Given the description of an element on the screen output the (x, y) to click on. 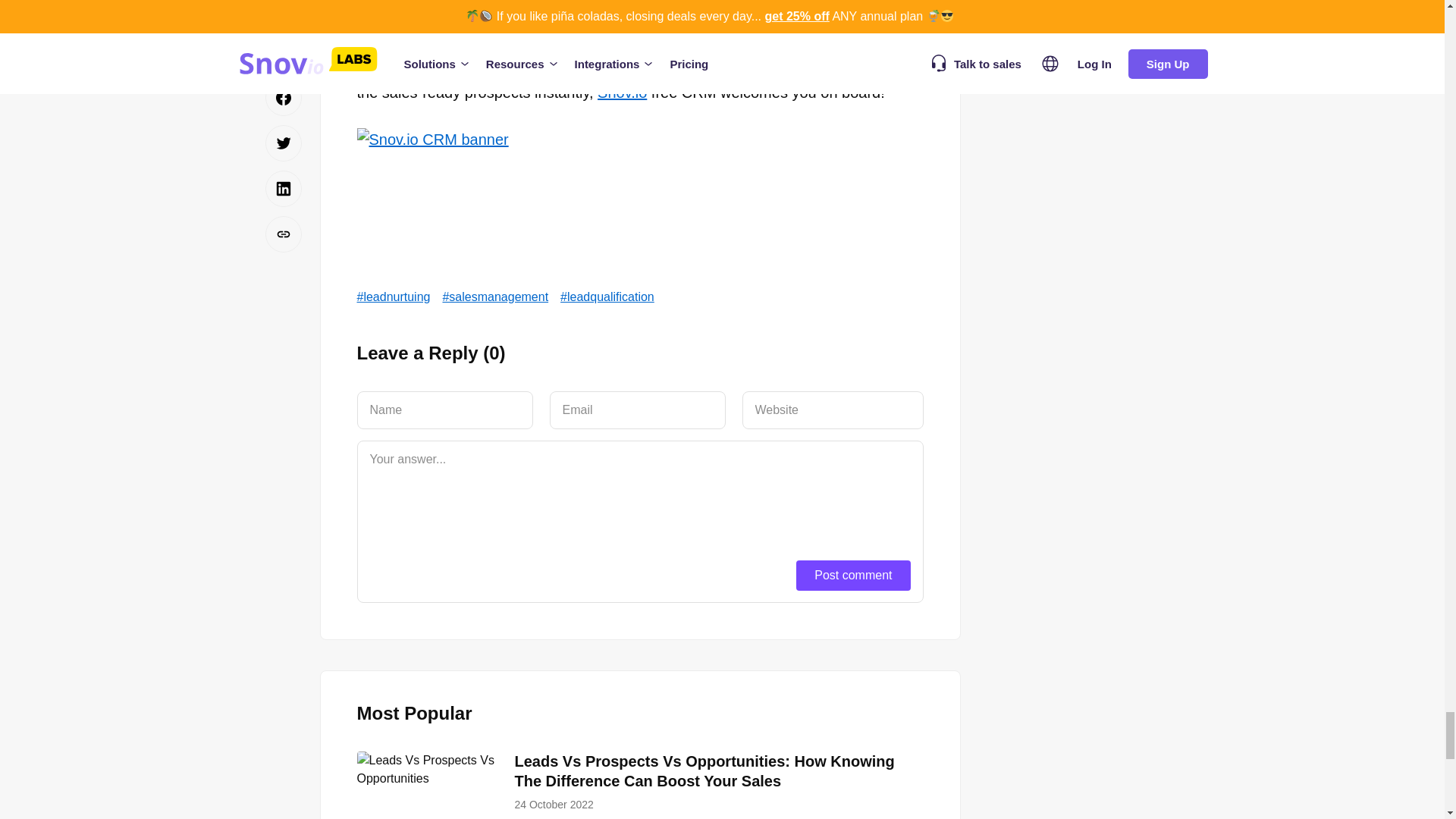
Post comment (853, 575)
